Given the description of an element on the screen output the (x, y) to click on. 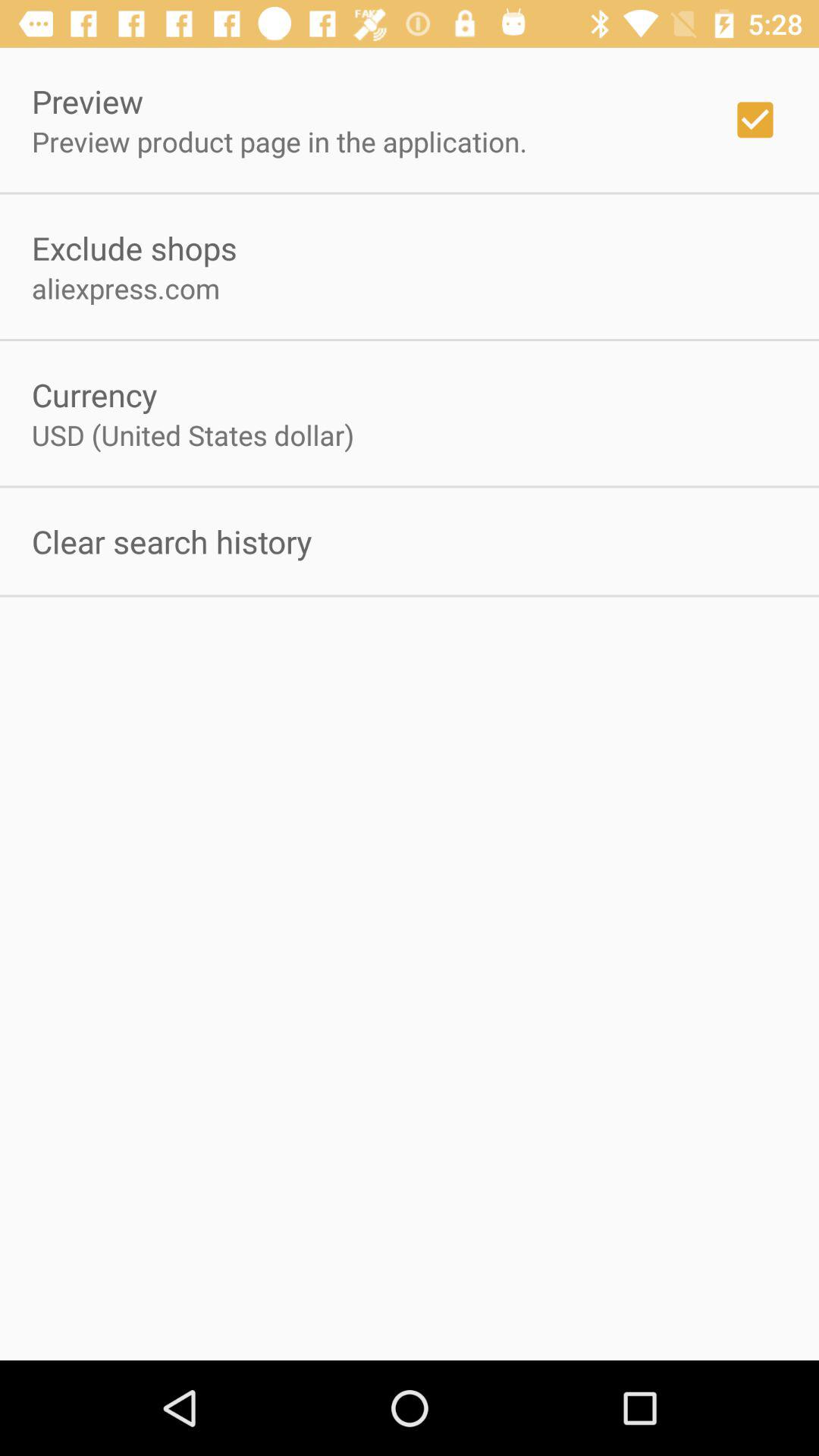
swipe to the exclude shops item (134, 247)
